Given the description of an element on the screen output the (x, y) to click on. 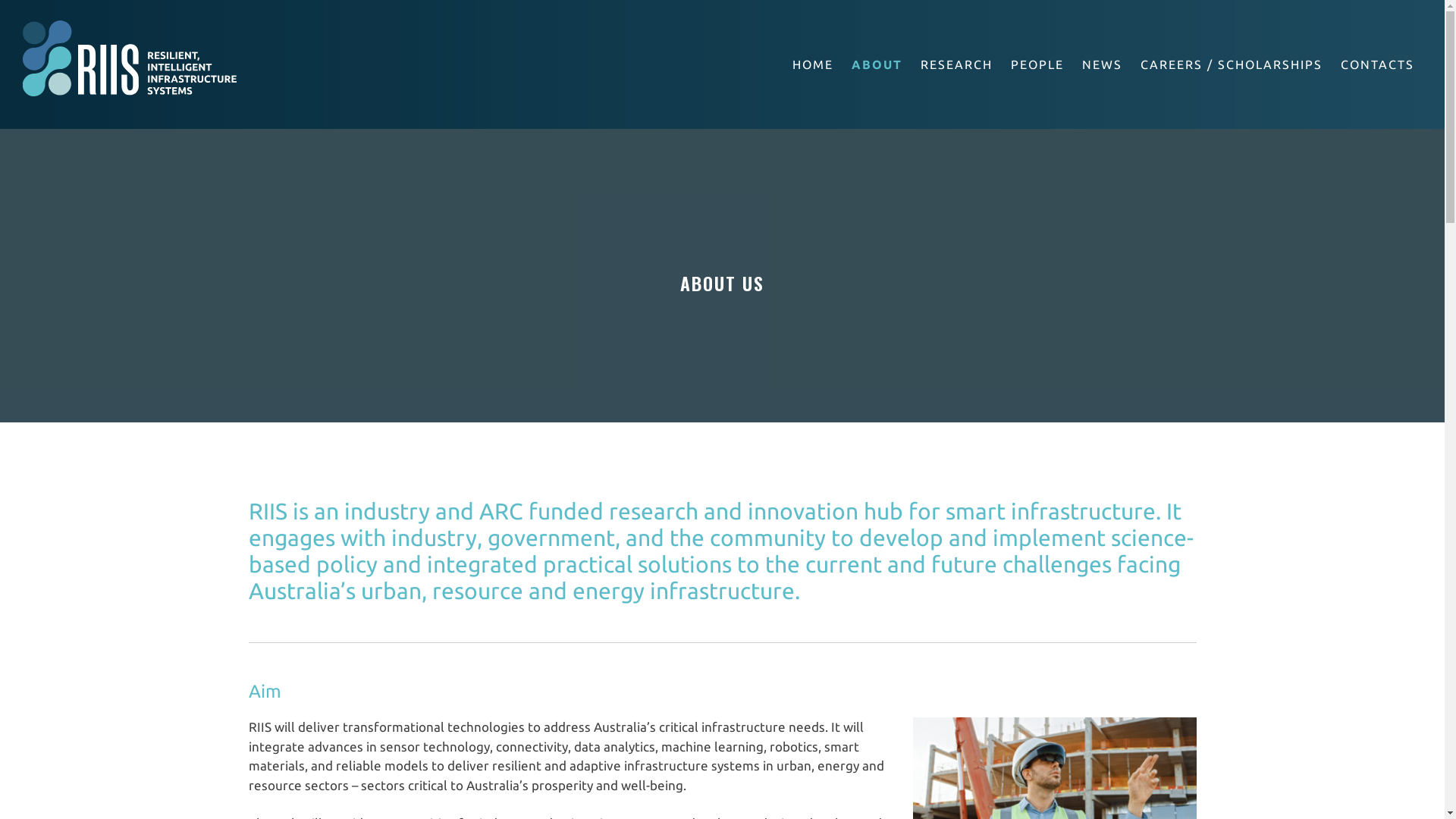
ABOUT Element type: text (877, 64)
HOME Element type: text (812, 64)
PEOPLE Element type: text (1037, 64)
CONTACTS Element type: text (1377, 64)
NEWS Element type: text (1101, 64)
RESEARCH Element type: text (956, 64)
CAREERS / SCHOLARSHIPS Element type: text (1231, 64)
